Given the description of an element on the screen output the (x, y) to click on. 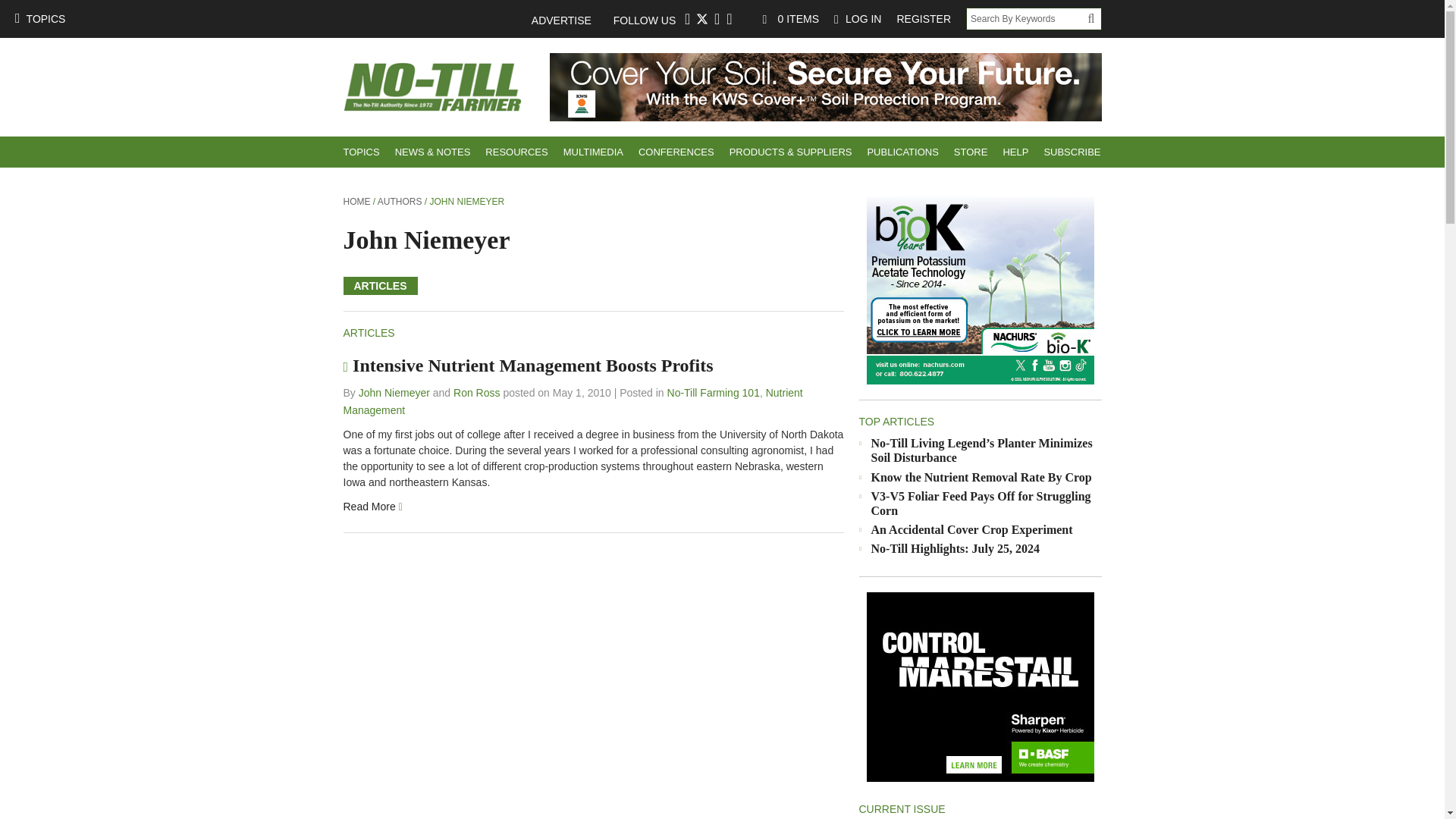
TOPICS (360, 151)
Know the Nutrient Removal Rate By Crop (980, 477)
V3-V5 Foliar Feed Pays Off for Struggling Corn (980, 502)
0 ITEMS (791, 18)
Search By Keywords (1026, 18)
Intensive Nutrient Management Boosts Profits (371, 506)
REGISTER (923, 18)
ADVERTISE (569, 20)
TOPICS (39, 18)
Nachurs (979, 289)
LOG IN (857, 18)
An Accidental Cover Crop Experiment (970, 529)
Search By Keywords (1026, 18)
KWS Cereals (824, 87)
